Given the description of an element on the screen output the (x, y) to click on. 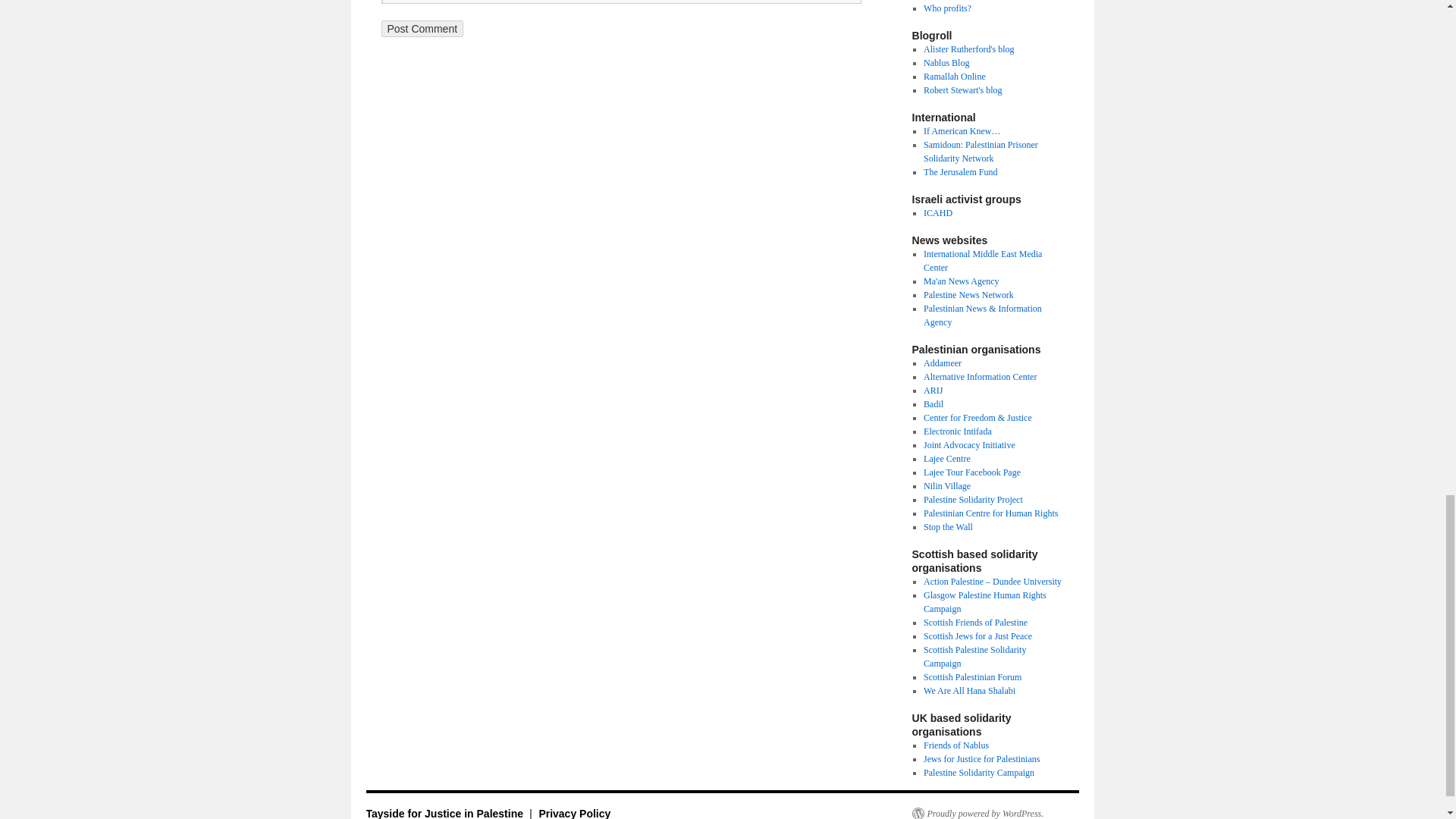
Palestine News Network (968, 294)
International Middle East Media Centre (982, 260)
Blog of Dundee-Nablus Twinning Association visit to Nablus (946, 62)
alternative information centre (979, 376)
Post Comment (421, 28)
Who profits? The Israeli occupation industry (947, 8)
Israeli committee against house demolitions (937, 213)
Post Comment (421, 28)
